Given the description of an element on the screen output the (x, y) to click on. 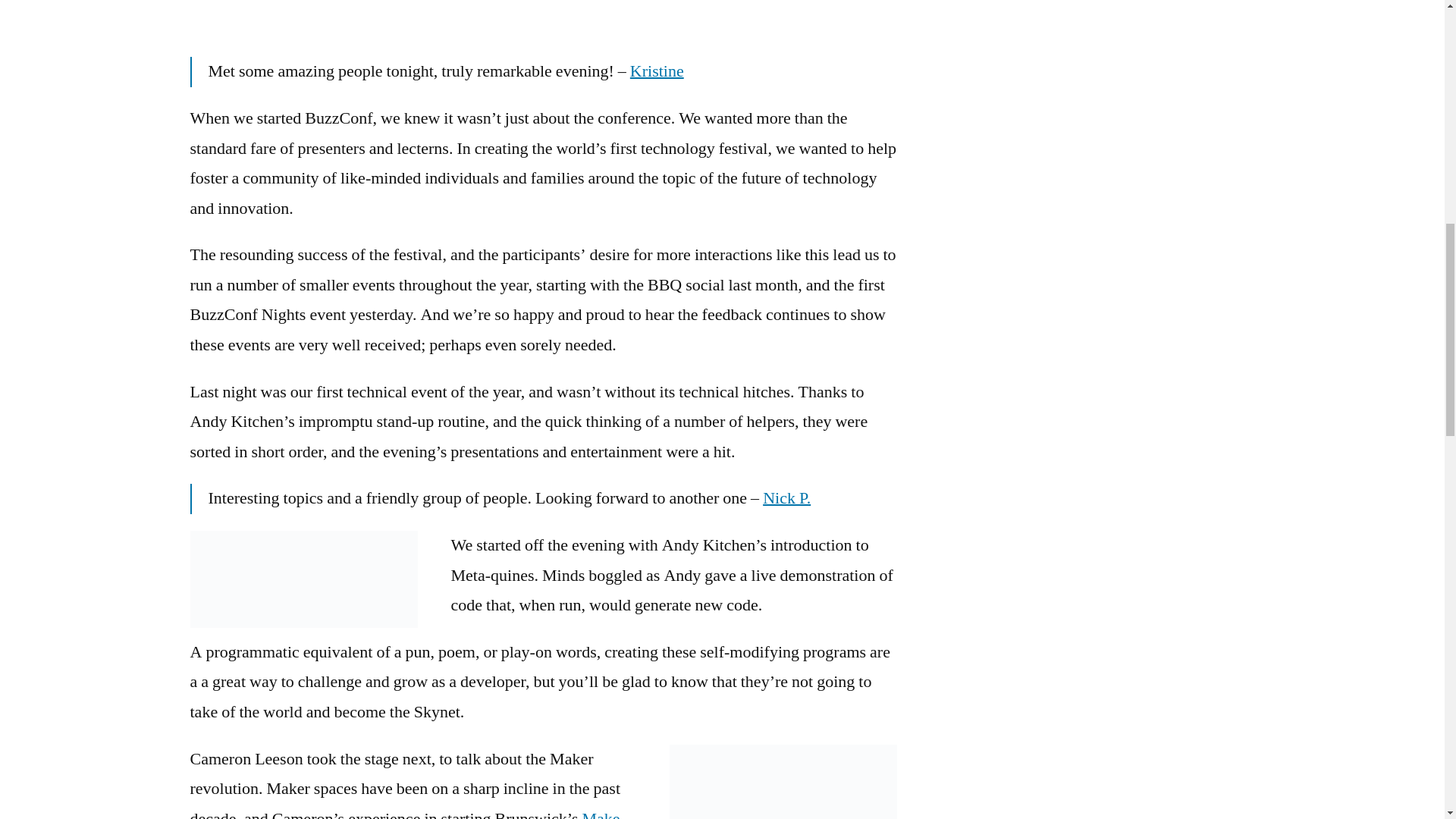
Make-Create (406, 813)
Nick P. (786, 497)
Kristine (657, 70)
